Given the description of an element on the screen output the (x, y) to click on. 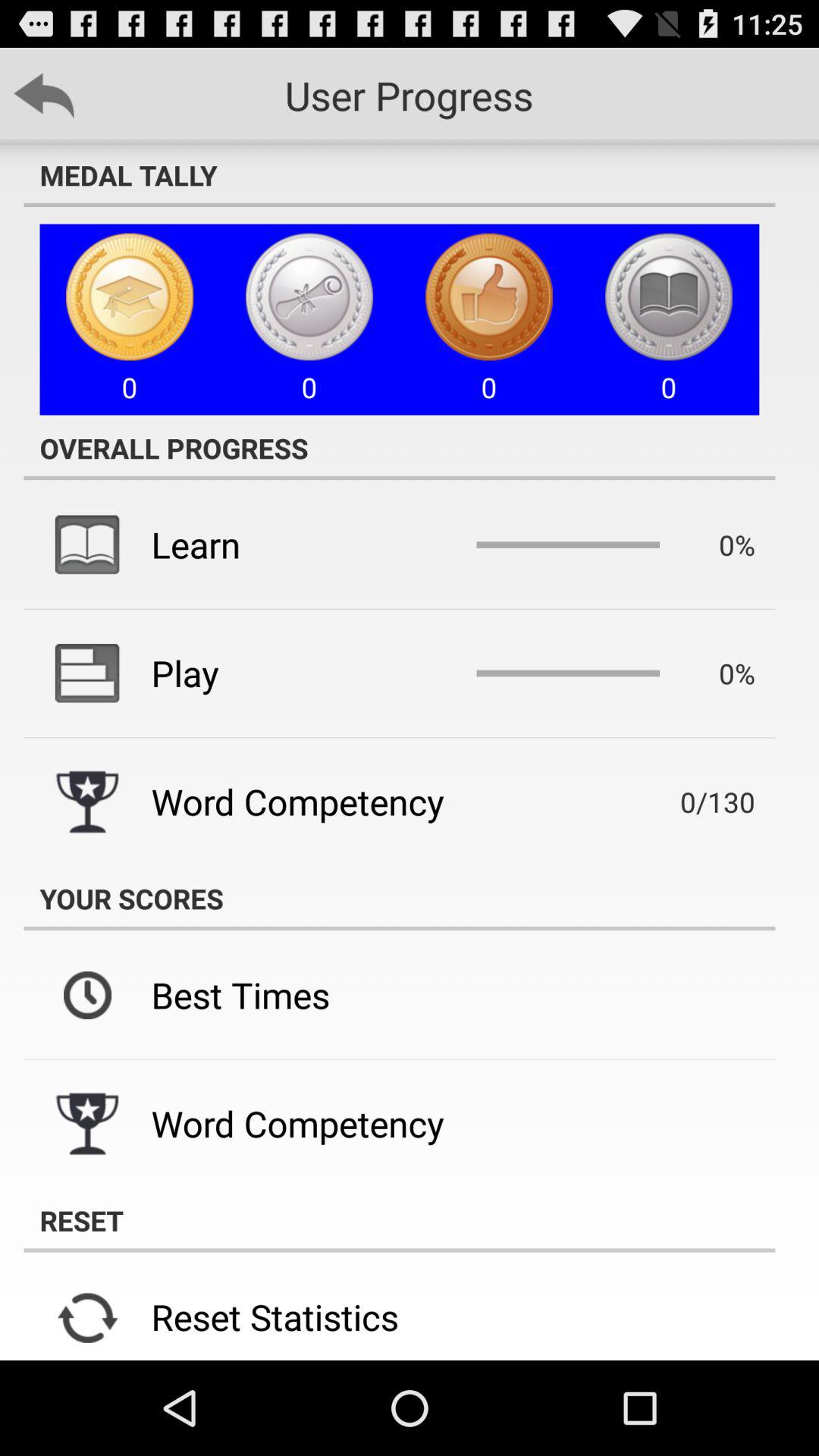
select item below learn item (184, 672)
